Given the description of an element on the screen output the (x, y) to click on. 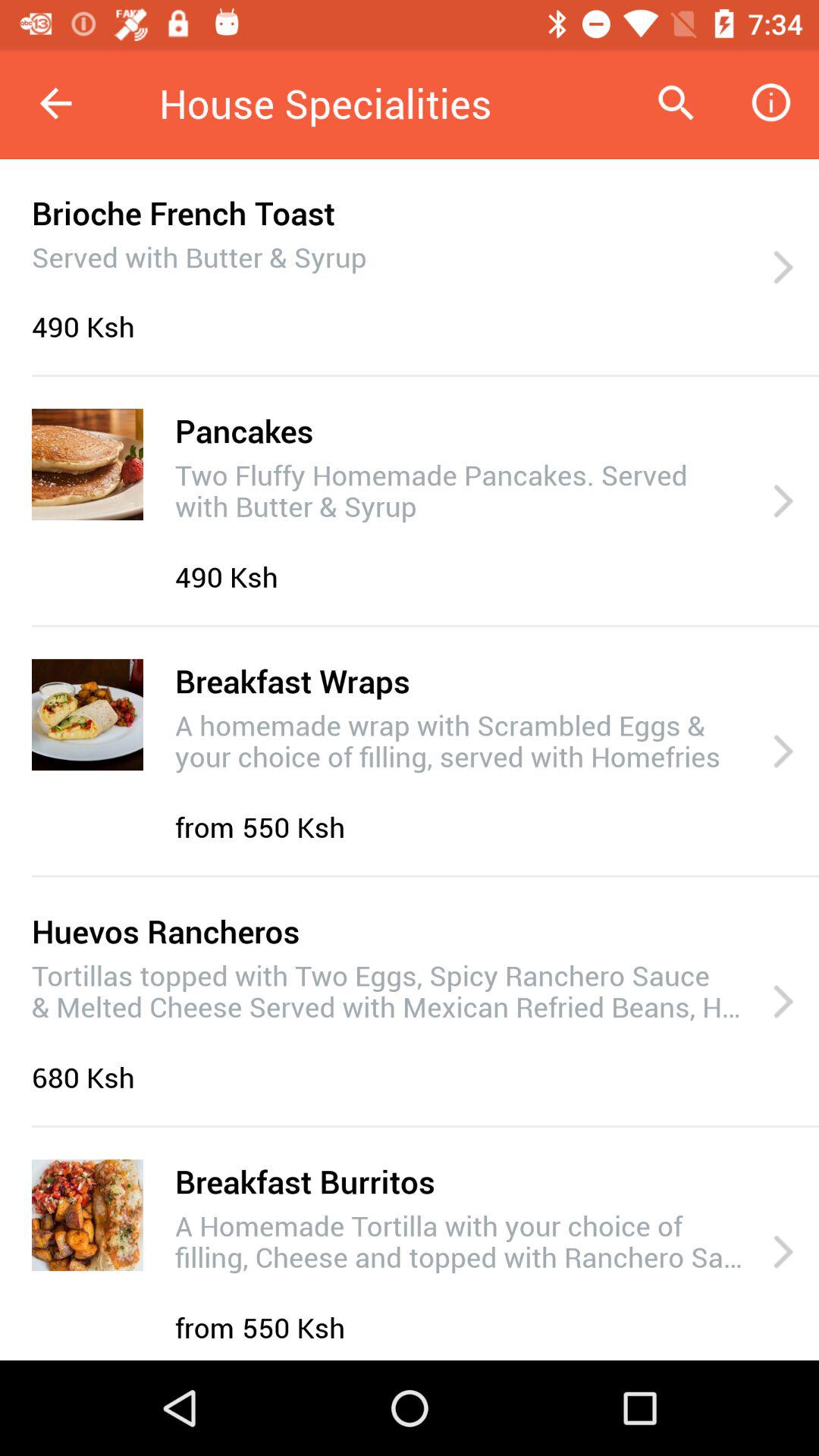
select item above the brioche french toast item (55, 103)
